Given the description of an element on the screen output the (x, y) to click on. 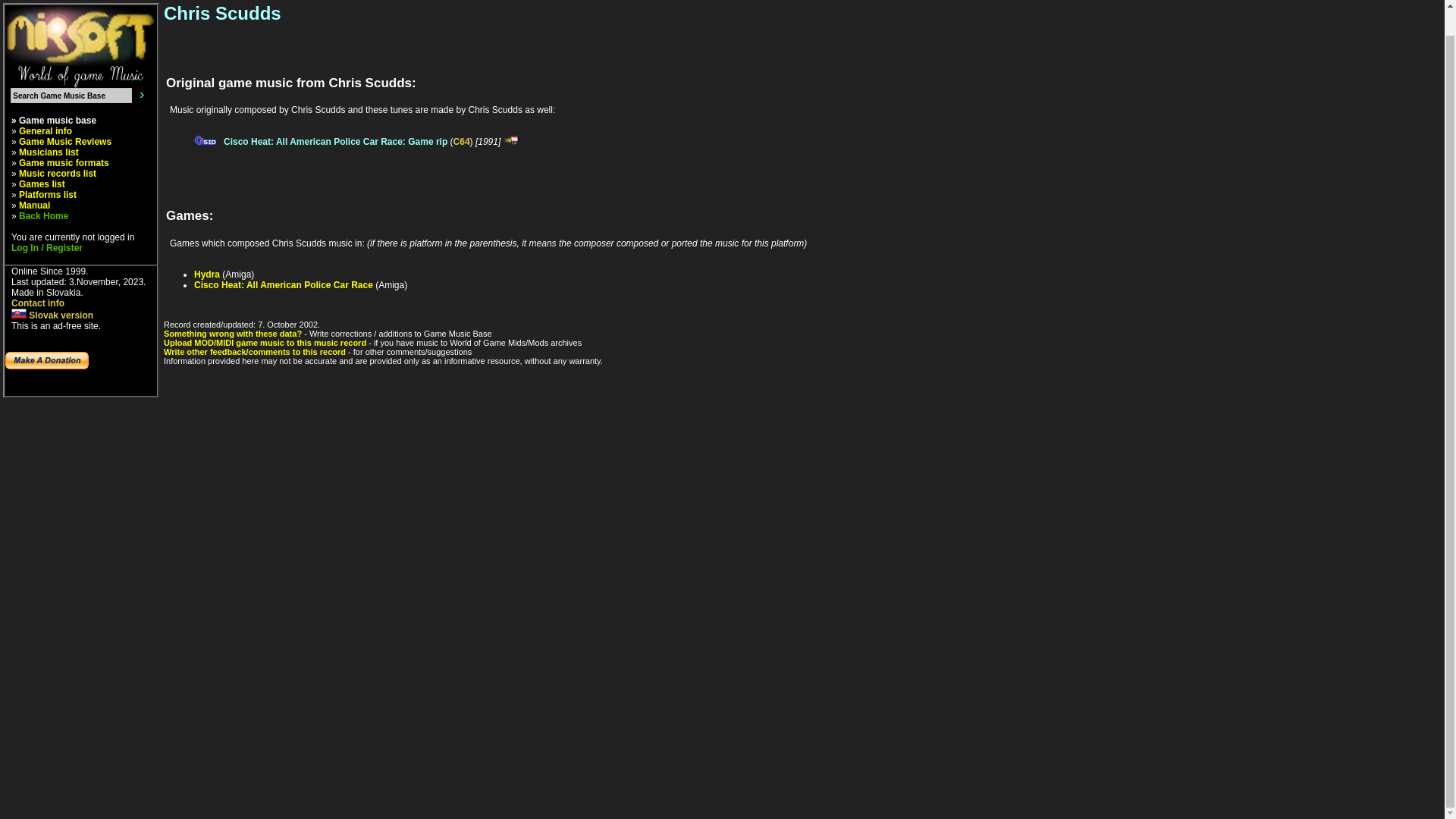
Search Game Music Base (71, 95)
Search Game Music Base (71, 95)
